Given the description of an element on the screen output the (x, y) to click on. 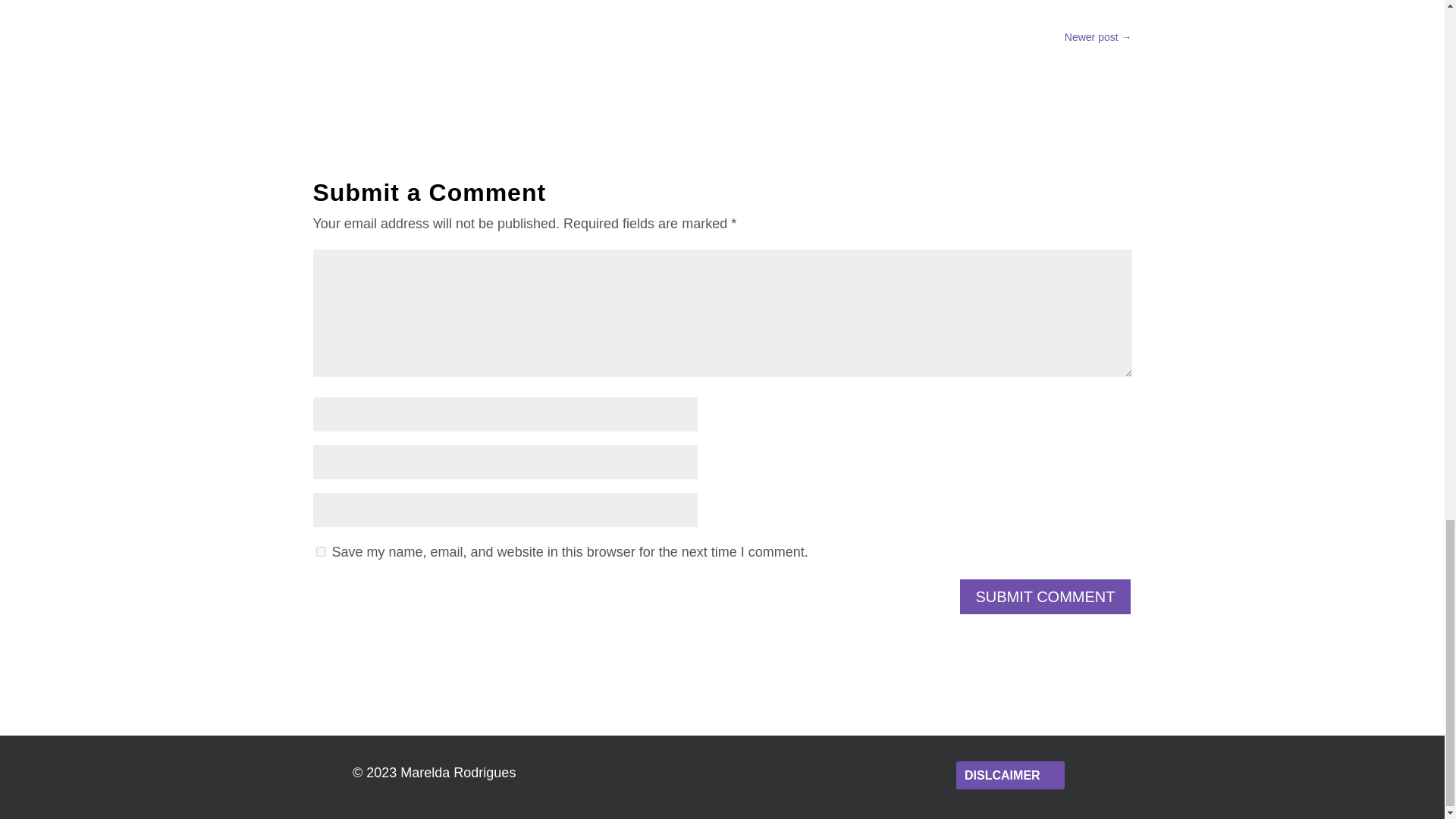
Submit Comment (1044, 596)
DISLCAIMER (1010, 775)
Submit Comment (1044, 596)
yes (319, 551)
